Given the description of an element on the screen output the (x, y) to click on. 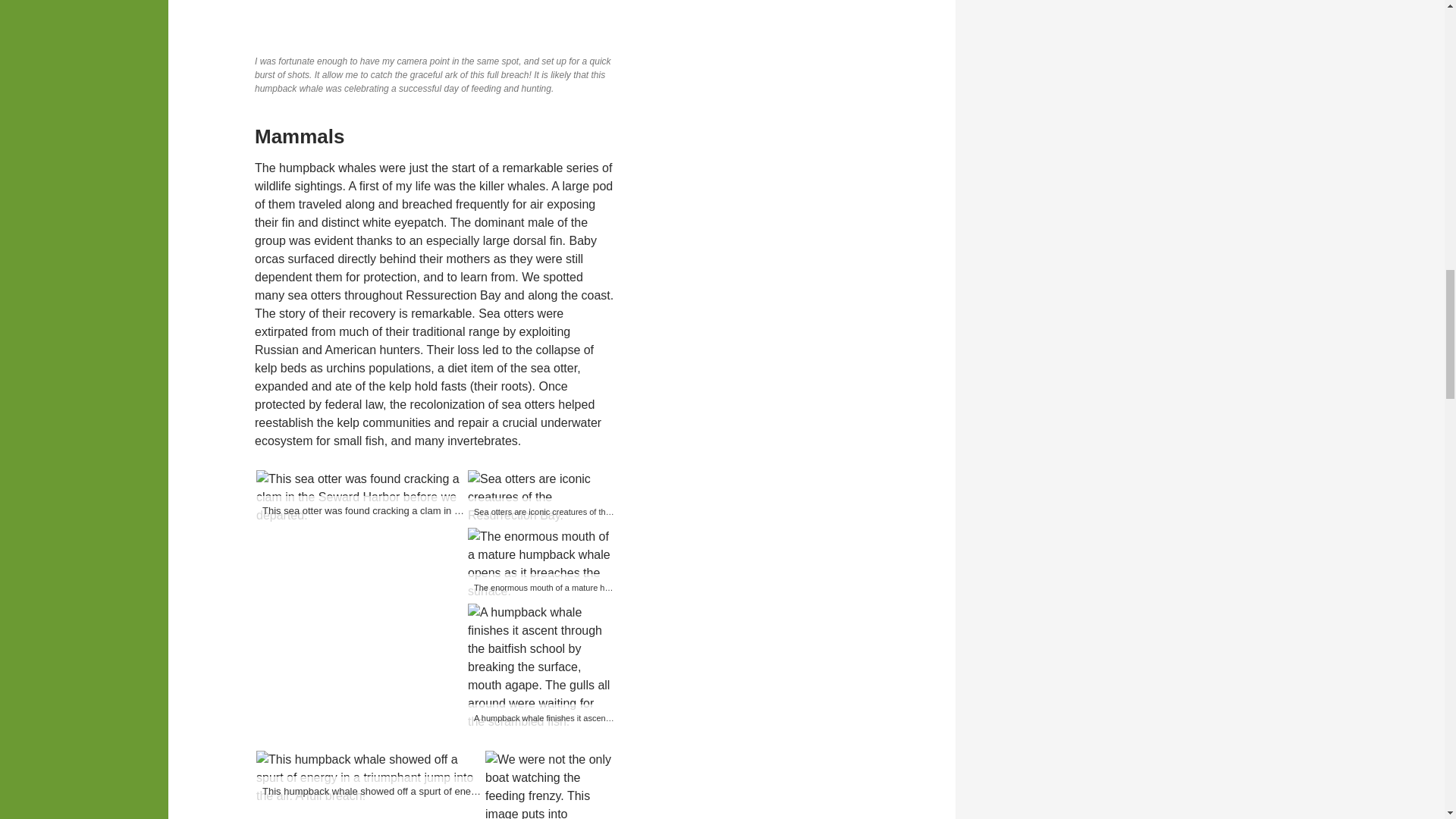
Whale Tail and Boat (548, 785)
Humpback Whale Mouth (539, 563)
Sea Otter Floating (539, 497)
Humpback Whale Full Breach (368, 778)
Sea Otter Clamming (360, 497)
Humpback Whale and Gulls (539, 667)
